Given the description of an element on the screen output the (x, y) to click on. 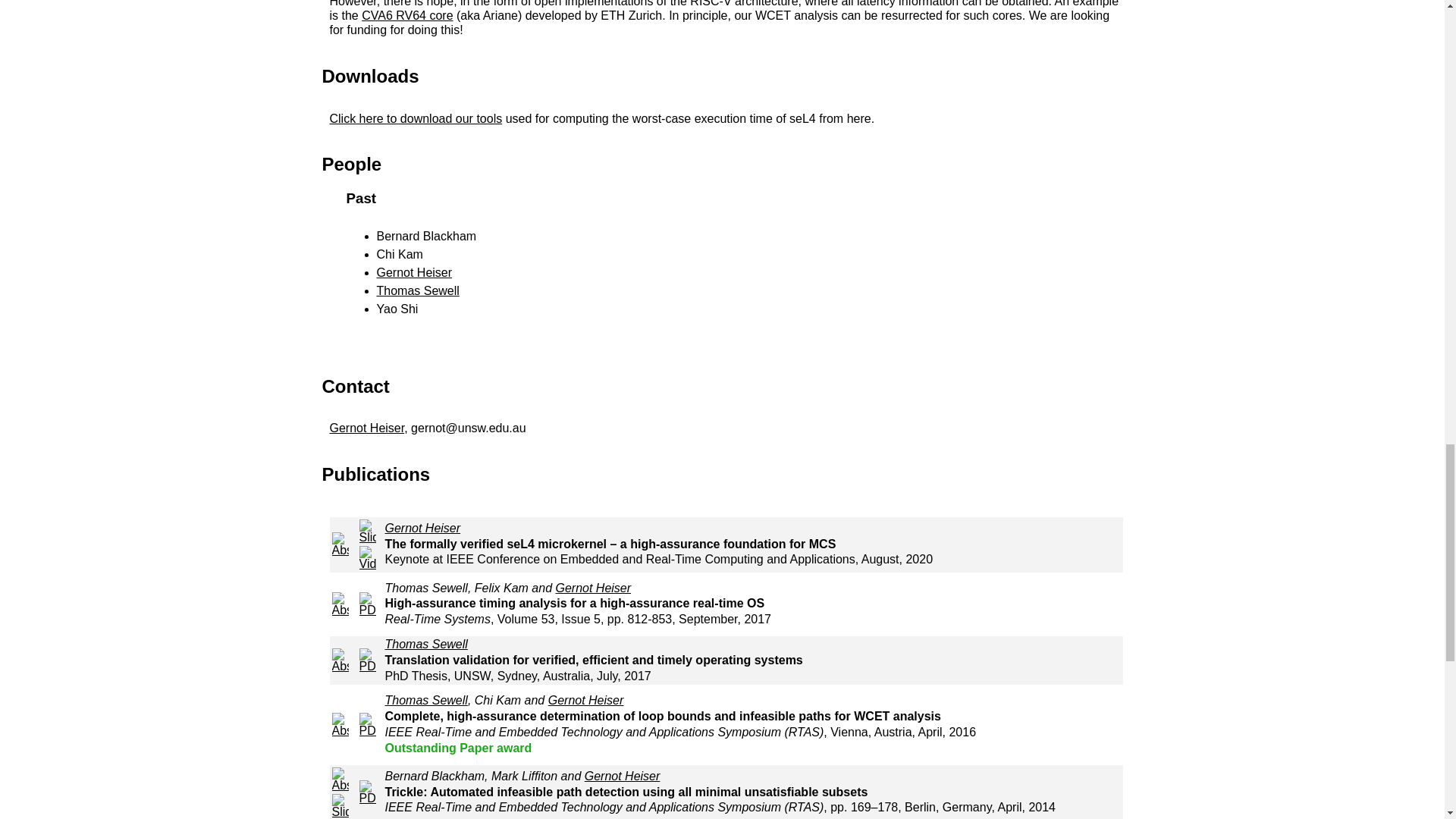
CVA6 RV64 core (406, 15)
